Given the description of an element on the screen output the (x, y) to click on. 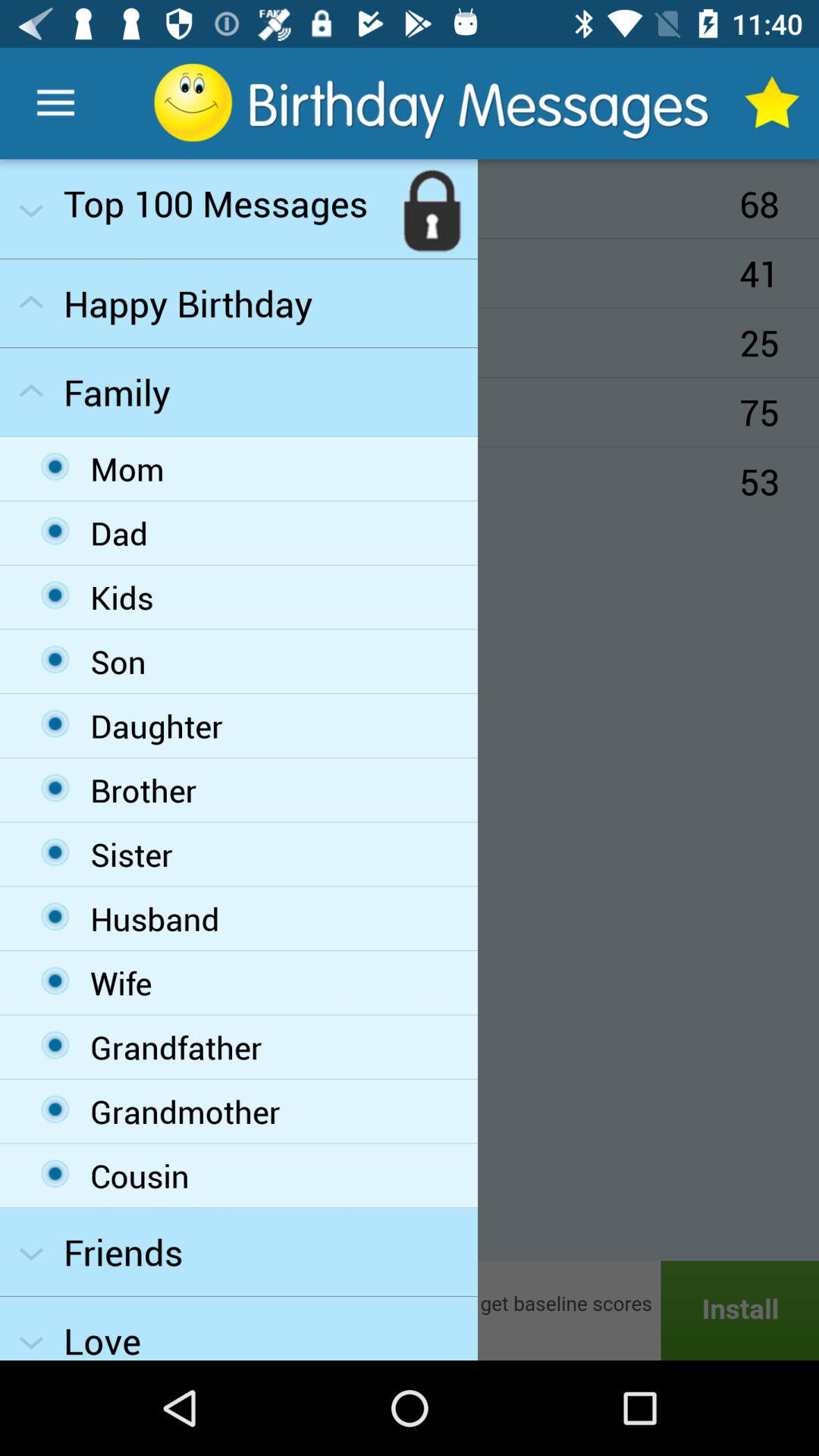
click the fourth option in the family drop down (55, 658)
select the first option under the family dropdown (55, 466)
select the third option from the bottom in the family drop down (55, 1044)
select the fifth radio button from the  family (55, 724)
